Given the description of an element on the screen output the (x, y) to click on. 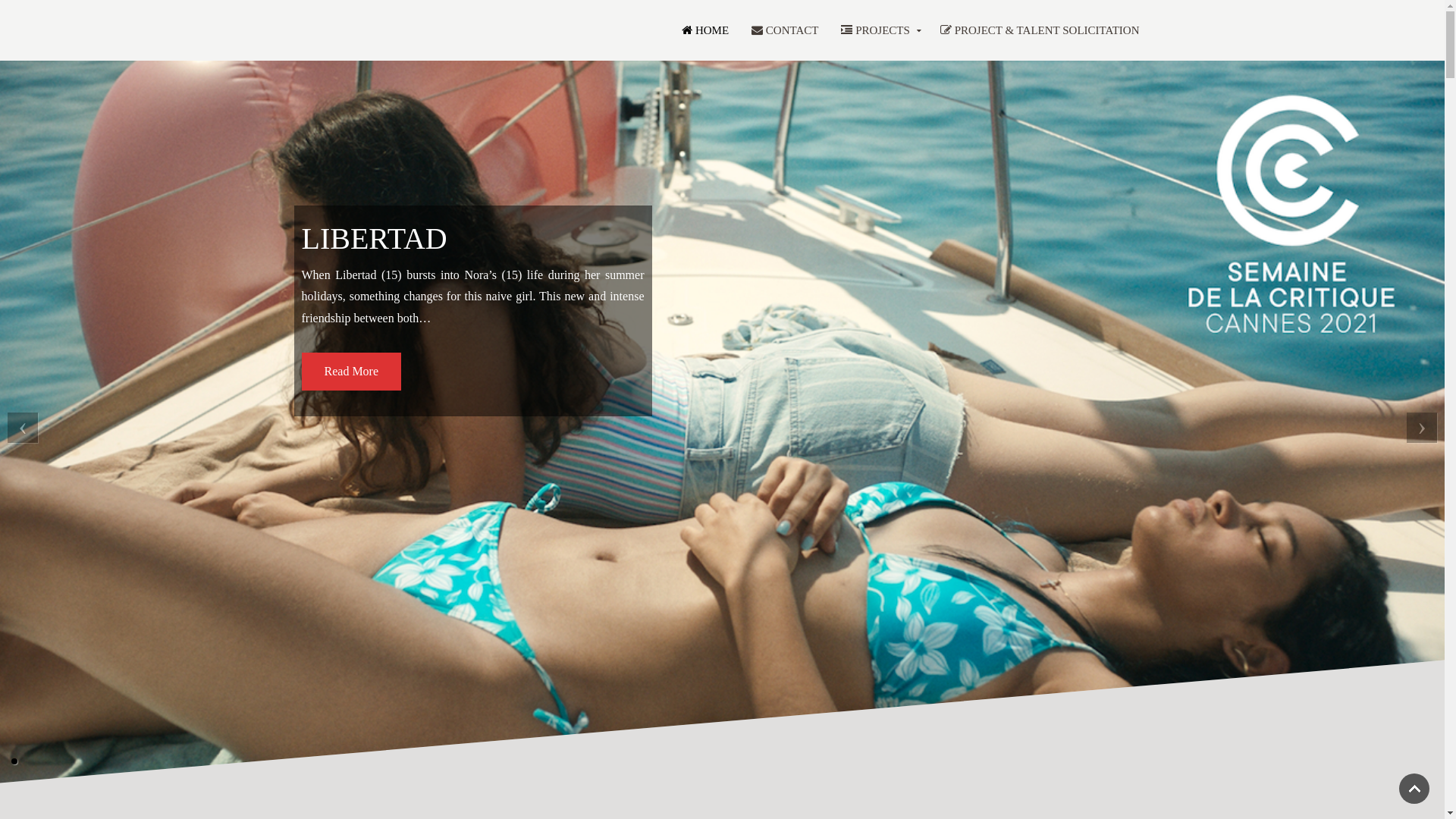
CONTACT Element type: text (784, 30)
HOME Element type: text (705, 30)
PROJECTS Element type: text (878, 30)
Read More Element type: text (351, 371)
PROJECT & TALENT SOLICITATION Element type: text (1039, 30)
